Given the description of an element on the screen output the (x, y) to click on. 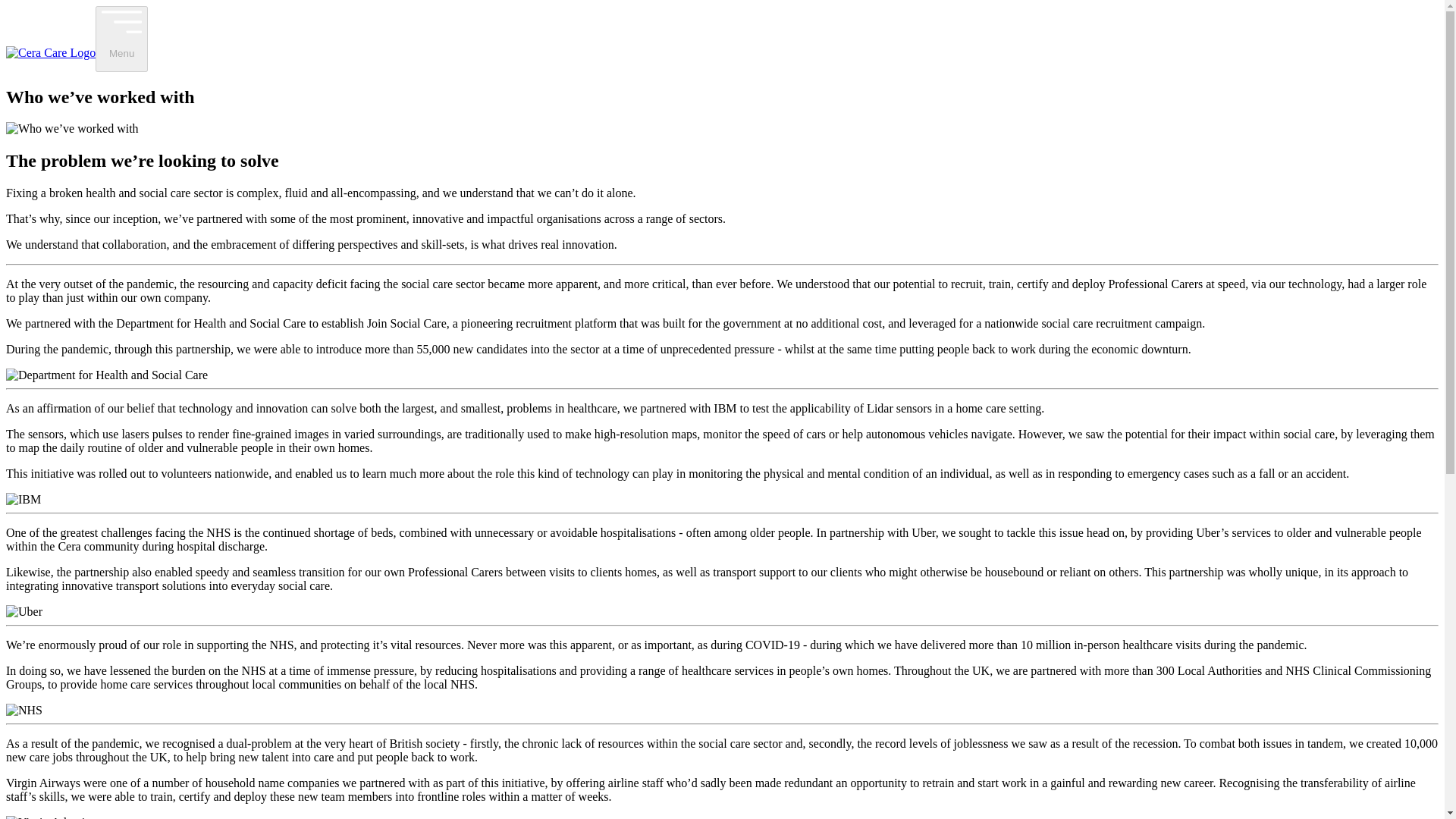
Menu icon (121, 22)
